Given the description of an element on the screen output the (x, y) to click on. 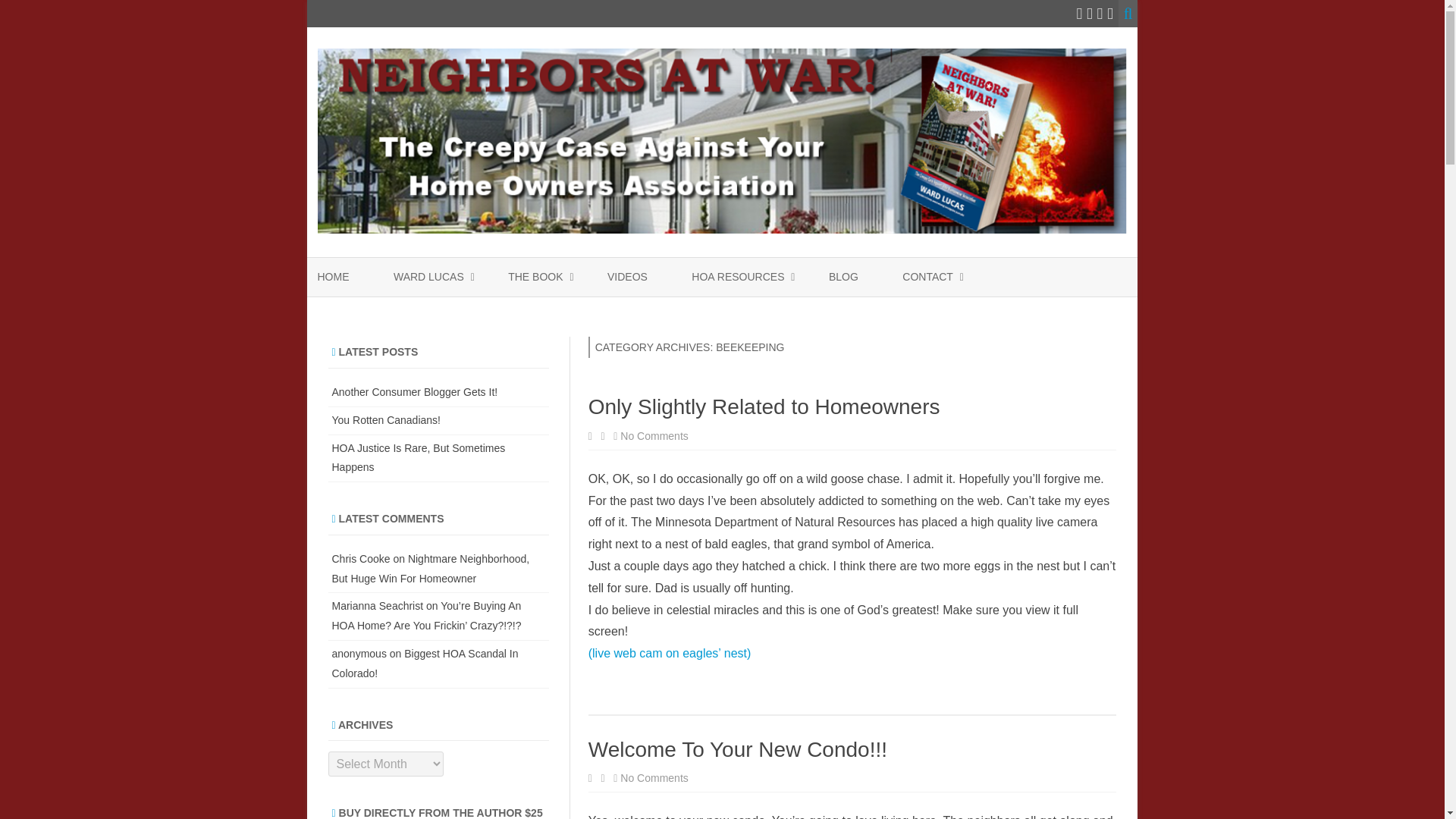
WARD LUCAS (428, 277)
THE BOOK (535, 277)
VIDEOS (627, 277)
HELP WITH HOA ISSUES (767, 311)
HOA RESOURCES (737, 277)
TABLE OF CONTENTS (583, 311)
HIS JOURNALISM JOURNEY (468, 311)
